Given the description of an element on the screen output the (x, y) to click on. 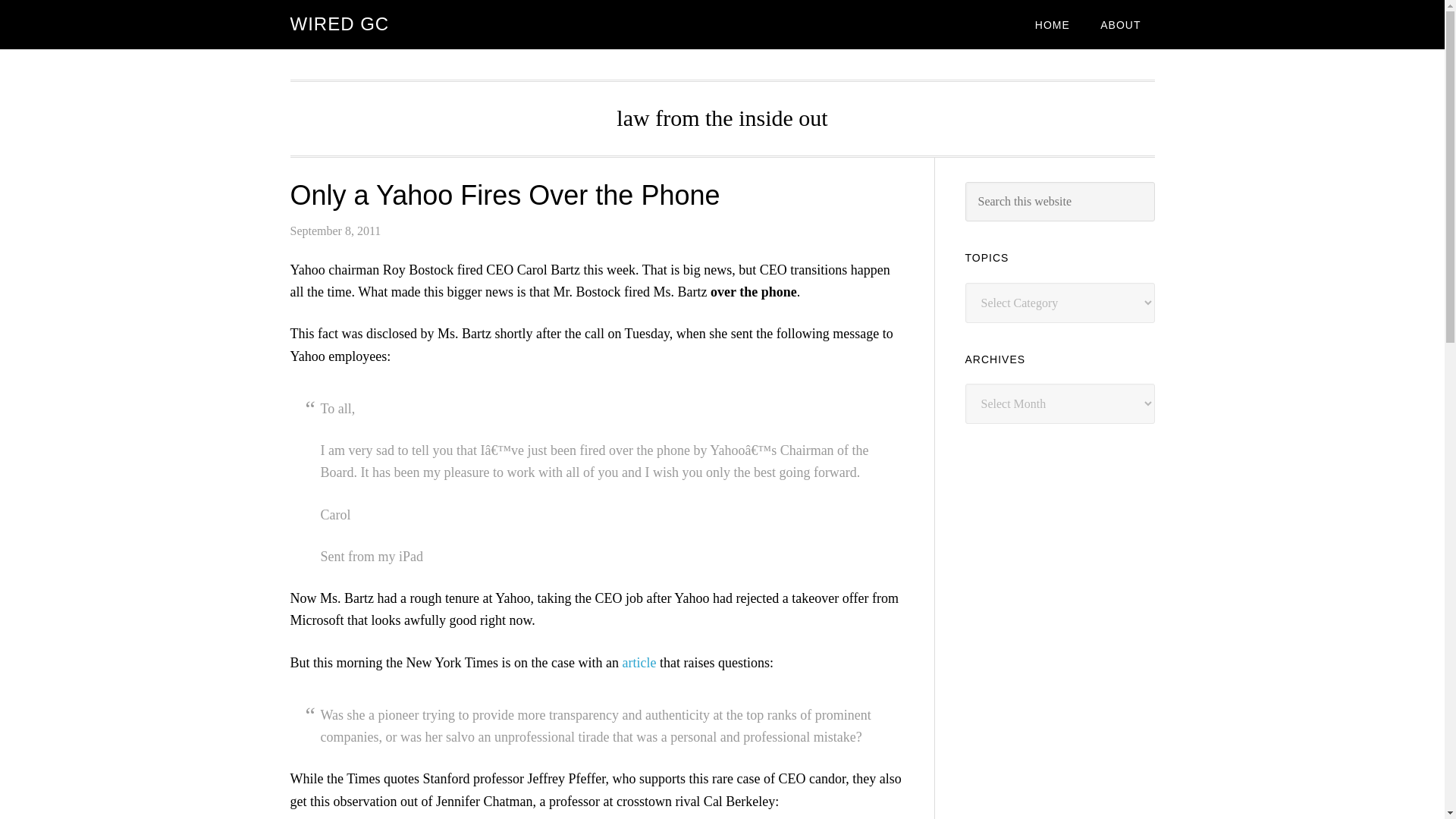
HOME (1052, 24)
WIRED GC (338, 23)
ABOUT (1120, 24)
article (639, 662)
